Given the description of an element on the screen output the (x, y) to click on. 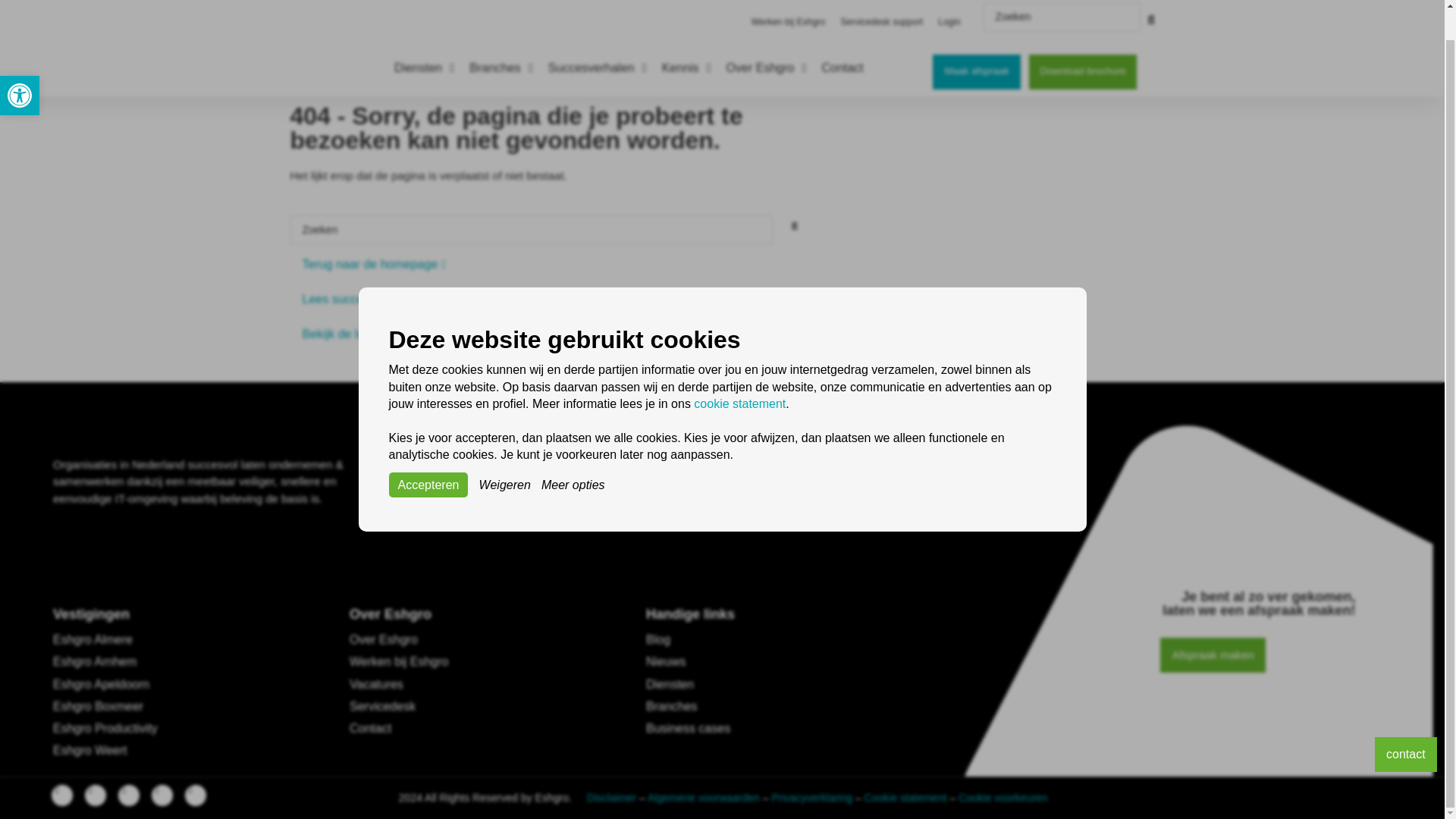
Toegankelijkheid gereedschappen (19, 64)
Toegankelijkheid gereedschappen (19, 64)
Servicedesk support (881, 4)
Diensten (418, 36)
Login (19, 64)
Werken bij Eshgro (949, 4)
